Given the description of an element on the screen output the (x, y) to click on. 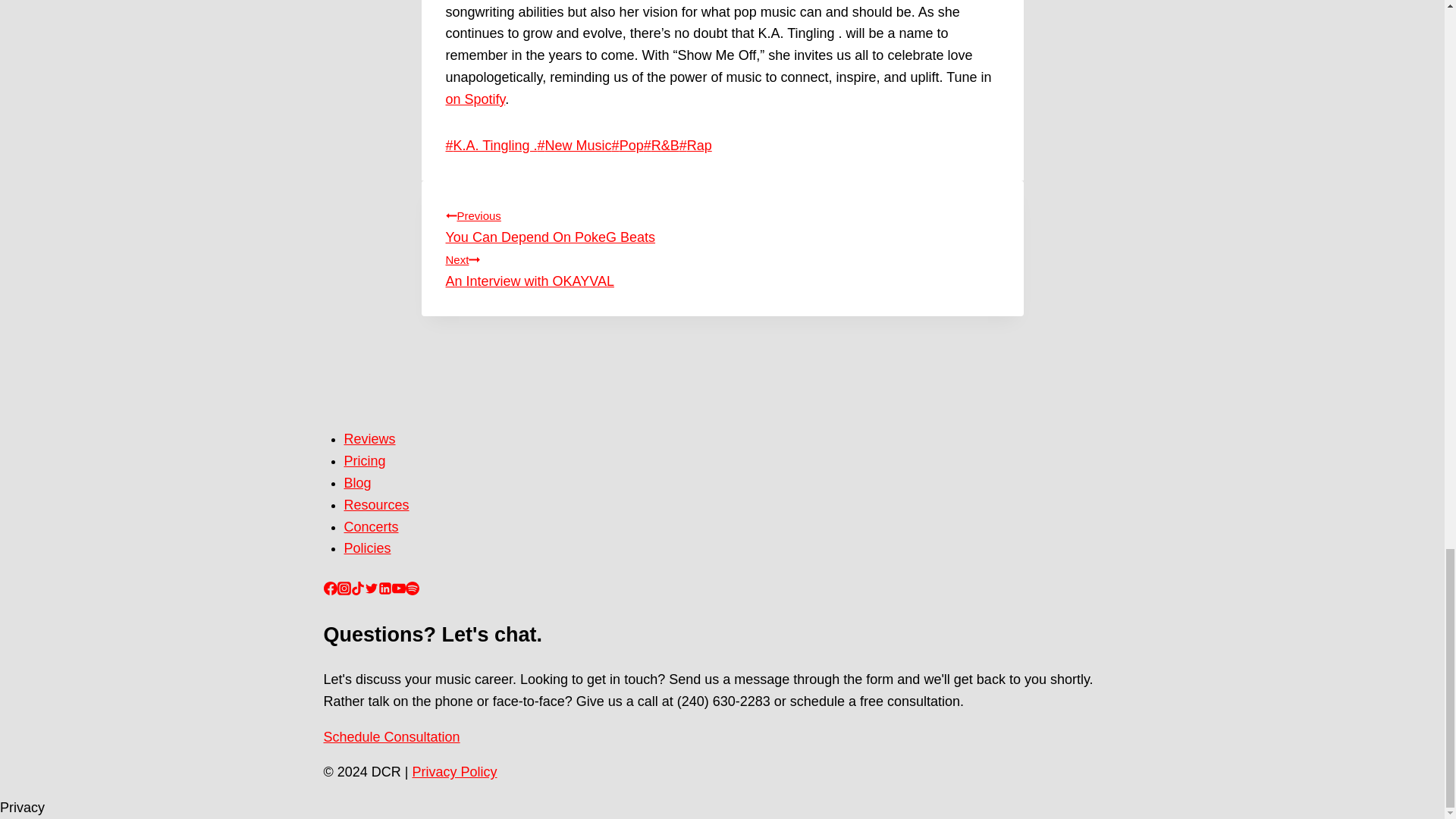
Policies (367, 548)
K.A. Tingling . (491, 145)
Reviews (369, 438)
Pricing (364, 460)
Concerts (370, 526)
New Music (721, 268)
Pop (574, 145)
on Spotify (627, 145)
Resources (475, 99)
Rap (721, 224)
Blog (376, 504)
